Given the description of an element on the screen output the (x, y) to click on. 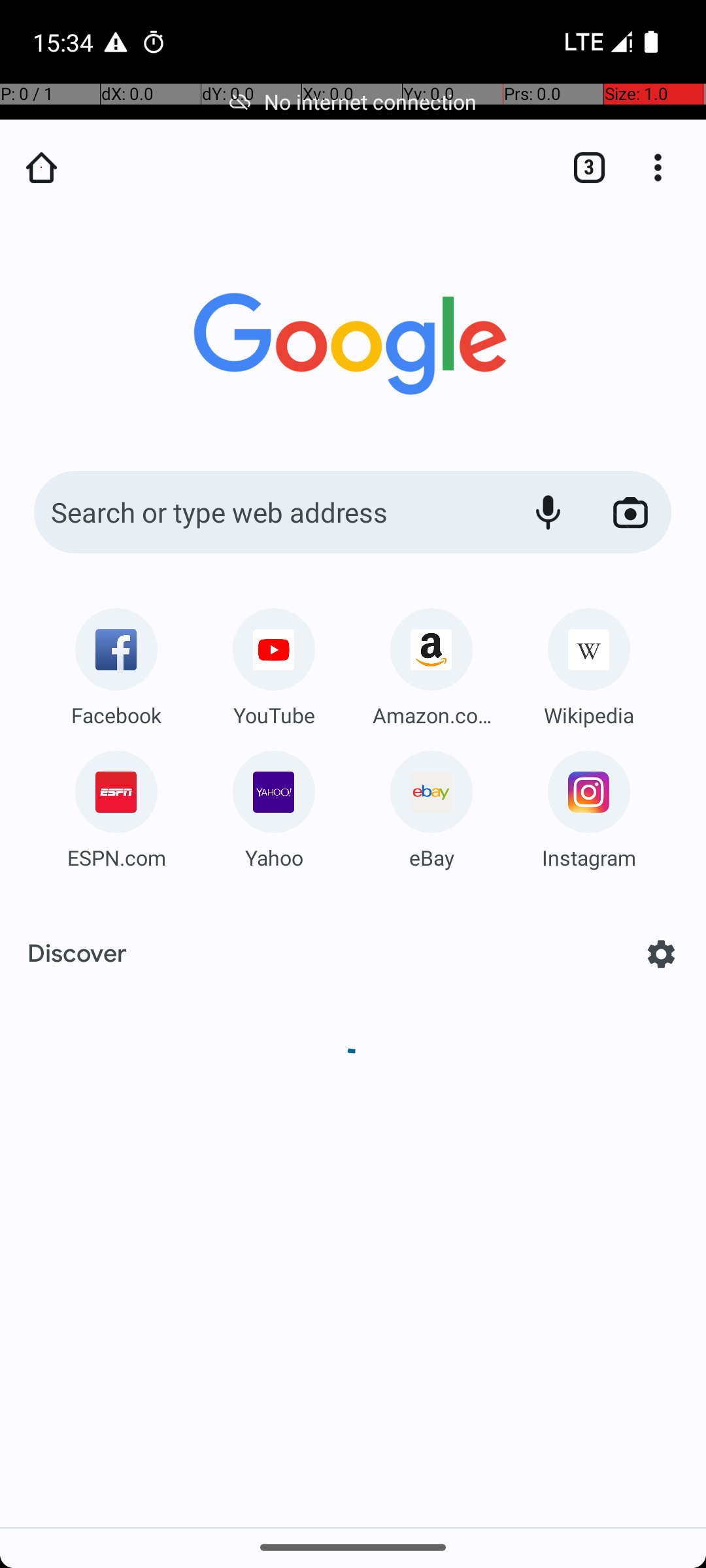
No internet connection Element type: android.widget.TextView (352, 101)
Switch or close tabs Element type: android.widget.ImageButton (582, 167)
Search or type web address Element type: android.widget.EditText (267, 512)
Start voice search Element type: android.widget.ImageView (547, 512)
Search with your camera using Google Lens Element type: android.widget.ImageView (629, 512)
Navigate: Facebook: m.facebook.com Element type: android.widget.FrameLayout (115, 662)
Navigate: YouTube: m.youtube.com Element type: android.widget.FrameLayout (273, 662)
Navigate: Amazon.com: www.amazon.com Element type: android.widget.FrameLayout (431, 662)
Navigate: Wikipedia: en.m.wikipedia.org Element type: android.widget.FrameLayout (588, 662)
Navigate: ESPN.com: www.espn.com Element type: android.widget.FrameLayout (115, 804)
Navigate: Yahoo: www.yahoo.com Element type: android.widget.FrameLayout (273, 804)
Navigate: eBay: m.ebay.com Element type: android.widget.FrameLayout (431, 804)
Navigate: Instagram: www.instagram.com Element type: android.widget.FrameLayout (588, 804)
Discover Element type: android.widget.TextView (76, 953)
Options for Discover Element type: android.widget.ImageButton (660, 953)
Facebook Element type: android.widget.TextView (115, 715)
Amazon.com Element type: android.widget.TextView (430, 715)
Wikipedia Element type: android.widget.TextView (588, 715)
ESPN.com Element type: android.widget.TextView (115, 857)
Yahoo Element type: android.widget.TextView (273, 857)
eBay Element type: android.widget.TextView (430, 857)
Instagram Element type: android.widget.TextView (588, 857)
